Given the description of an element on the screen output the (x, y) to click on. 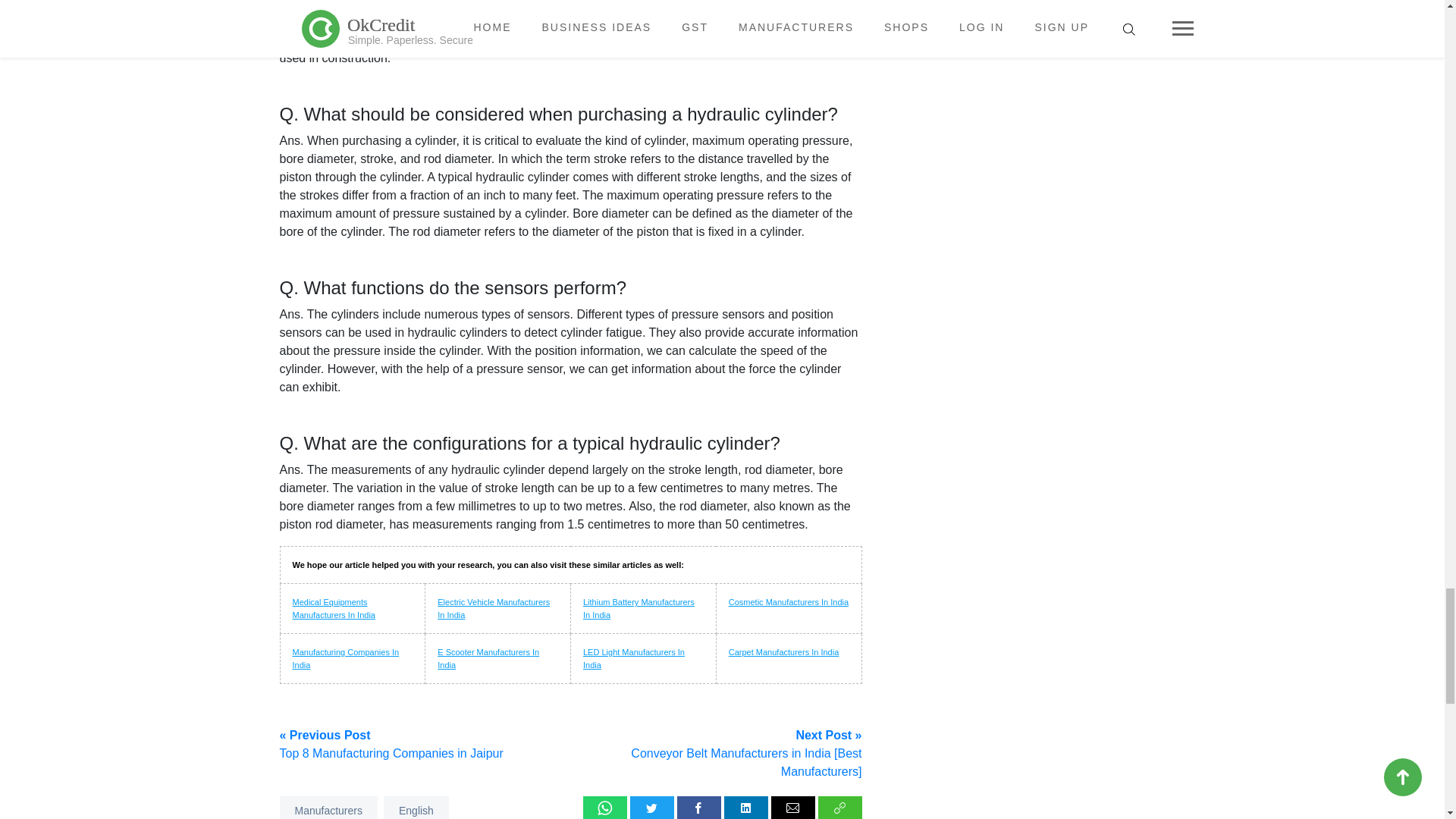
Share via Whatsapp (605, 807)
Share on Twitter (652, 807)
Share on LinkedIn (745, 807)
Share on Facebook (698, 807)
Copy link (839, 807)
Share via Email (793, 807)
